Given the description of an element on the screen output the (x, y) to click on. 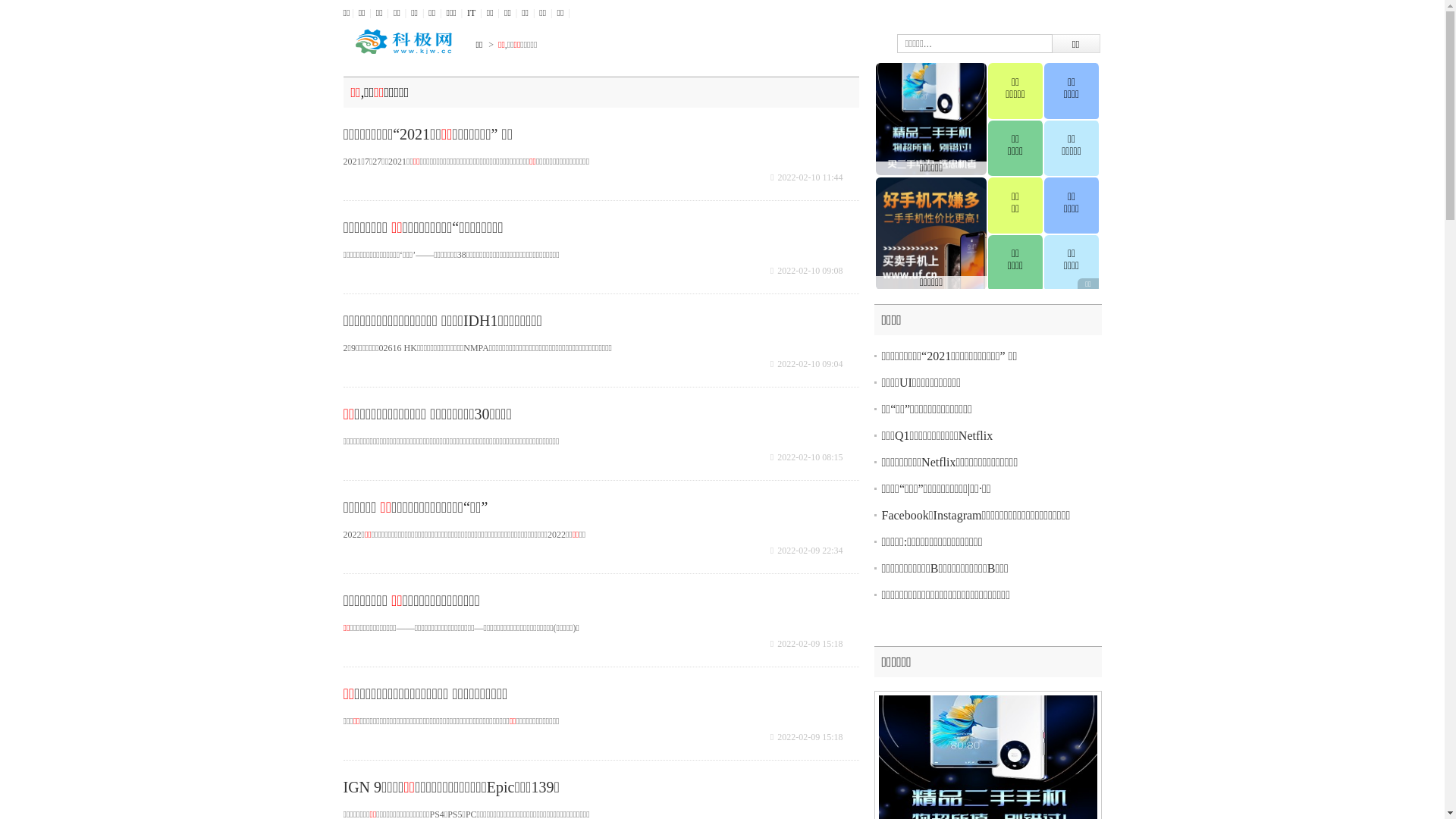
IT Element type: text (470, 12)
